Given the description of an element on the screen output the (x, y) to click on. 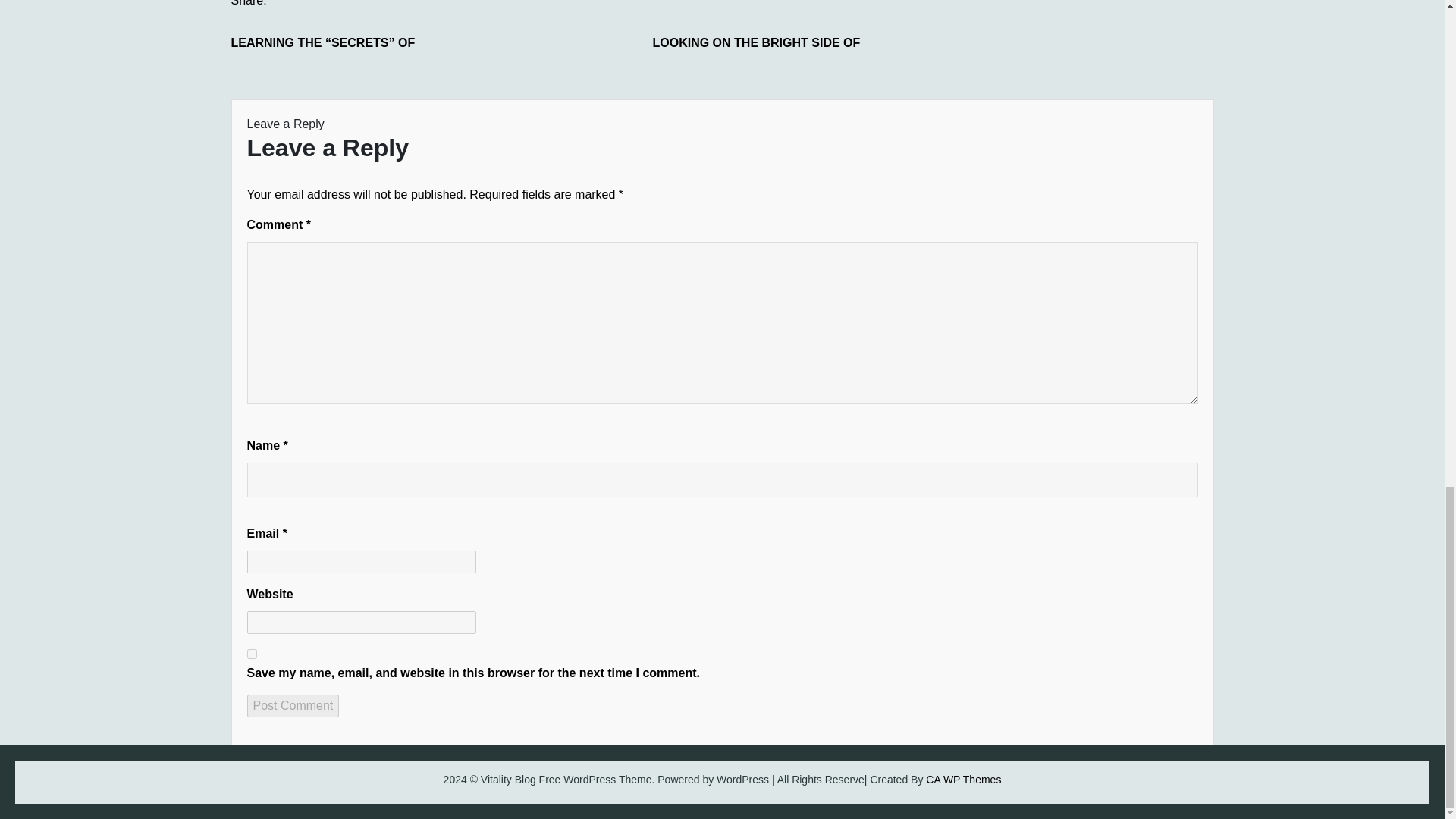
yes (252, 654)
Post Comment (293, 705)
LOOKING ON THE BRIGHT SIDE OF (765, 43)
Post Comment (293, 705)
CA WP Themes (963, 779)
